Given the description of an element on the screen output the (x, y) to click on. 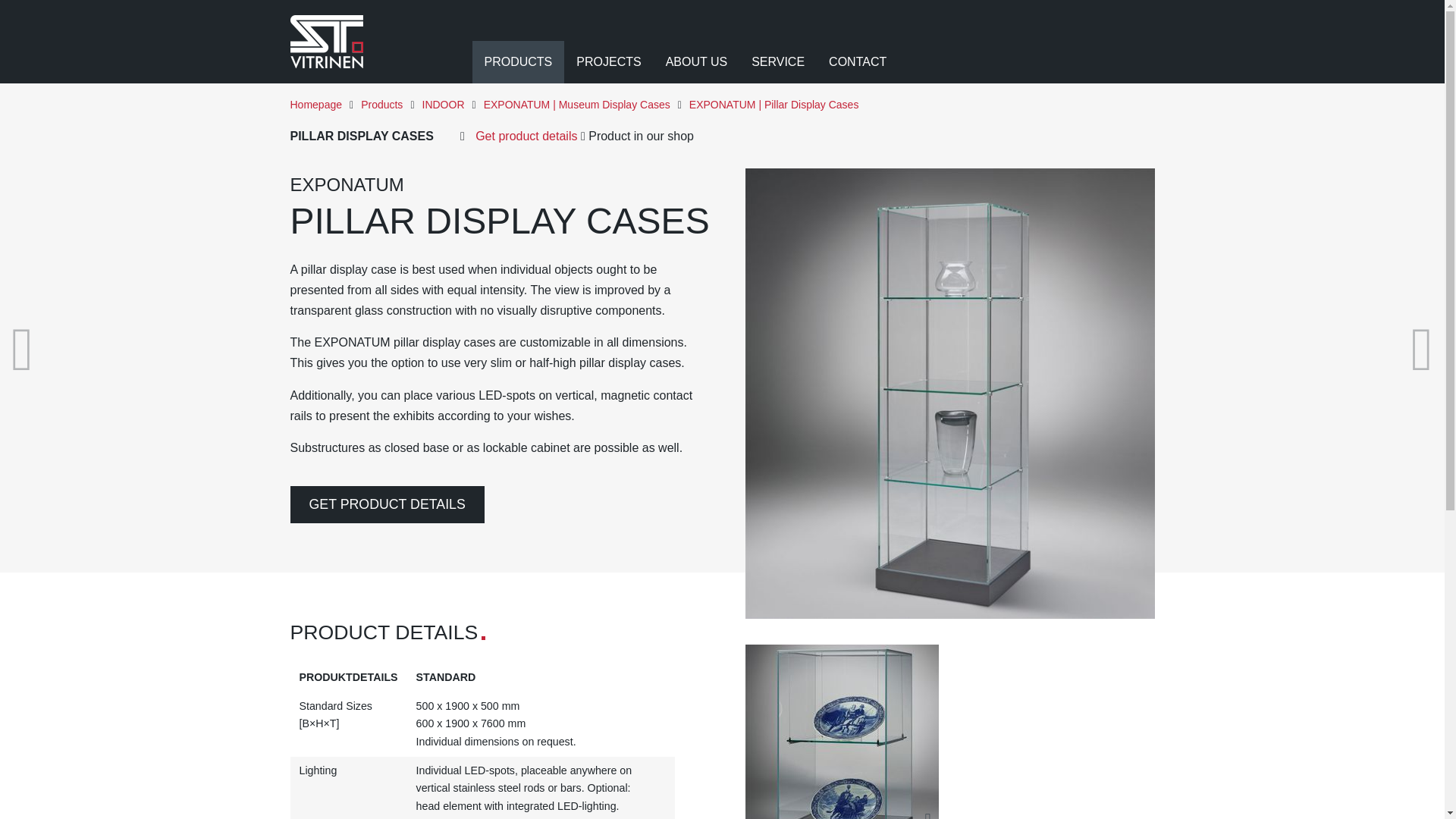
ABOUT US (696, 61)
SERVICE (777, 61)
PROJECTS (608, 61)
PRODUCTS (517, 61)
